Given the description of an element on the screen output the (x, y) to click on. 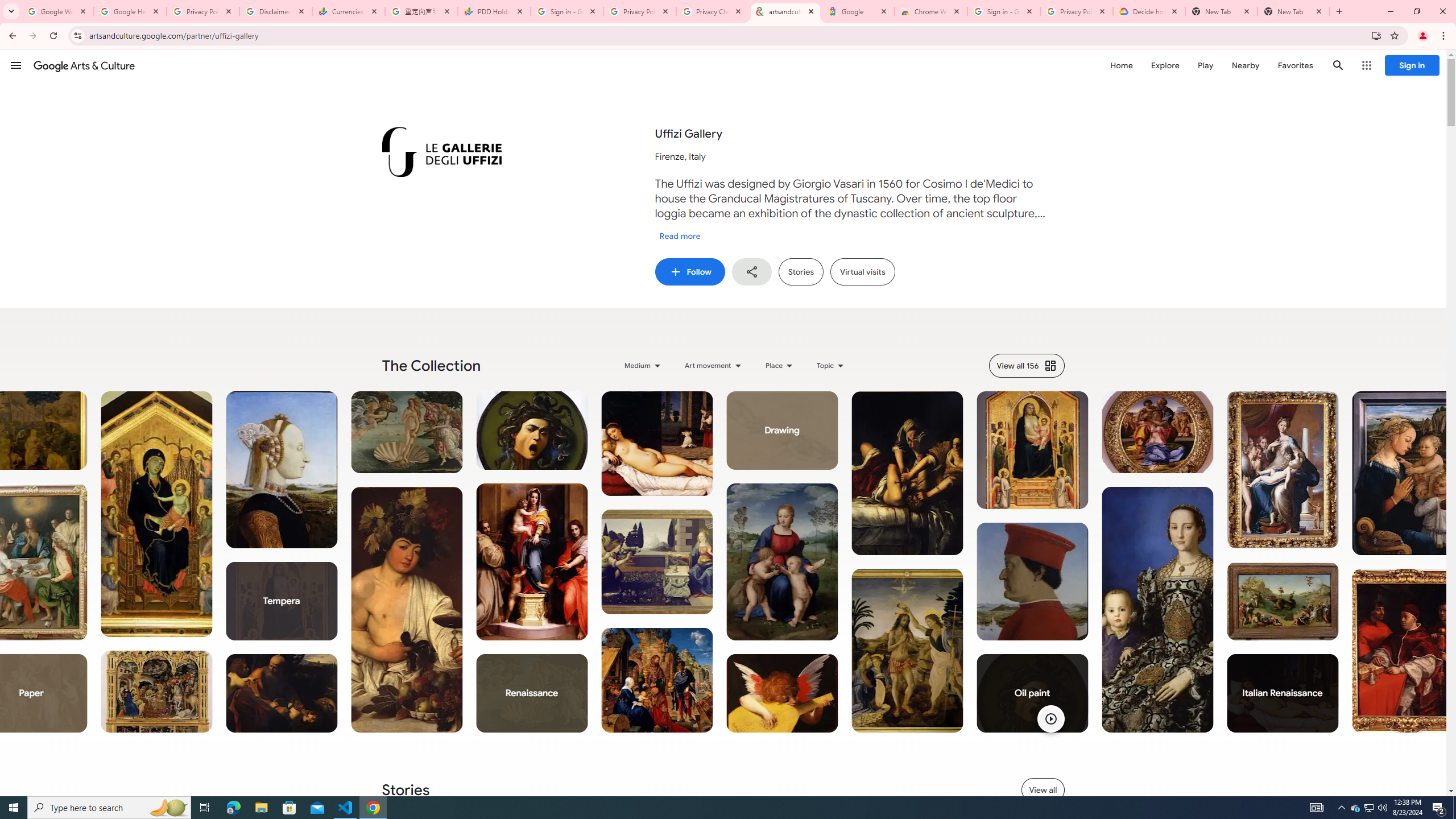
Resume animation (1050, 718)
View all 156 (1026, 365)
Menu (15, 65)
Topic (831, 365)
Google Workspace Admin Community (57, 11)
Chrome Web Store - Color themes by Chrome (930, 11)
